Given the description of an element on the screen output the (x, y) to click on. 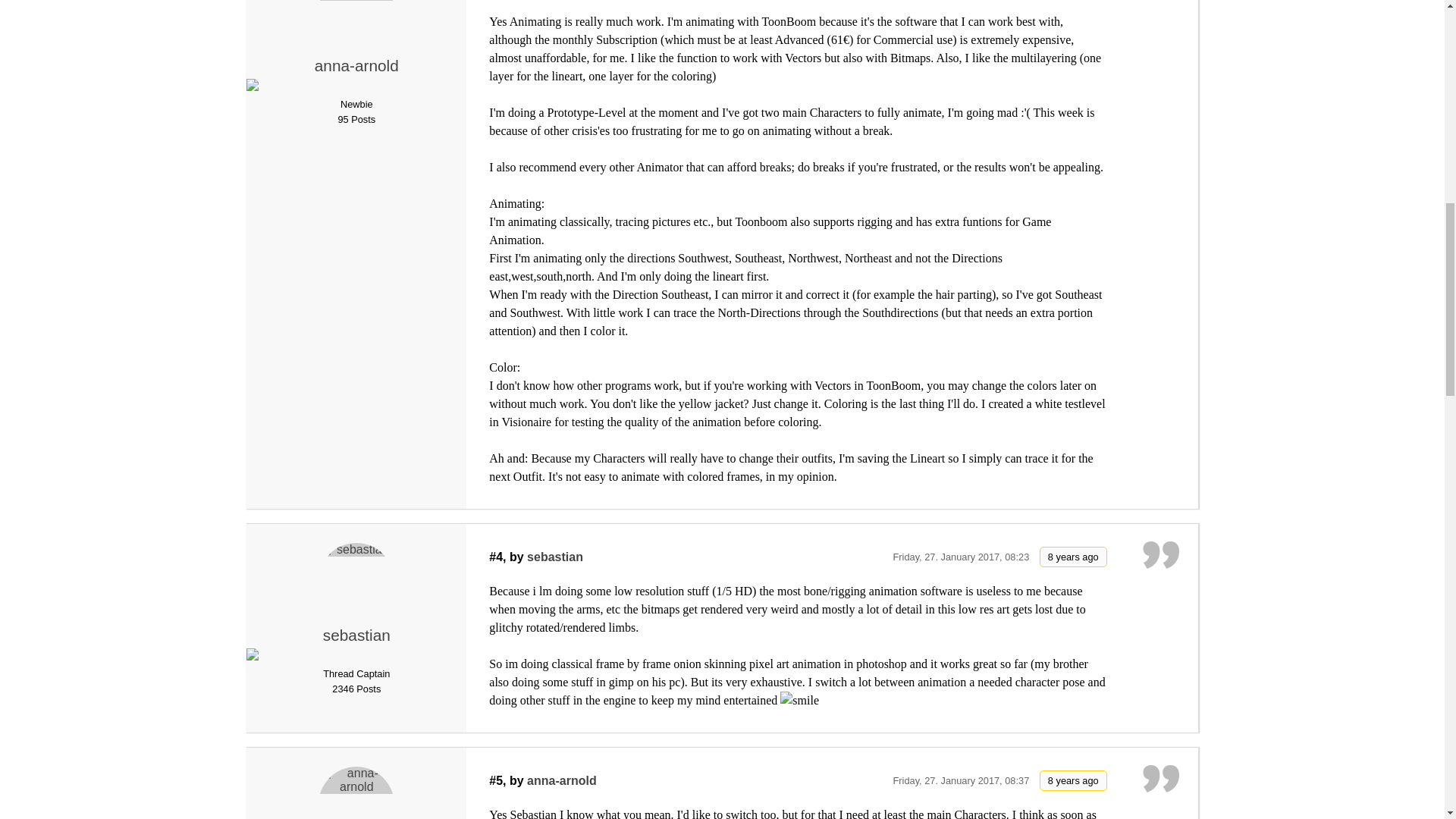
anna-arnold (356, 65)
sebastian (356, 580)
Quote (1160, 3)
anna-arnold (356, 24)
smile (799, 700)
